Given the description of an element on the screen output the (x, y) to click on. 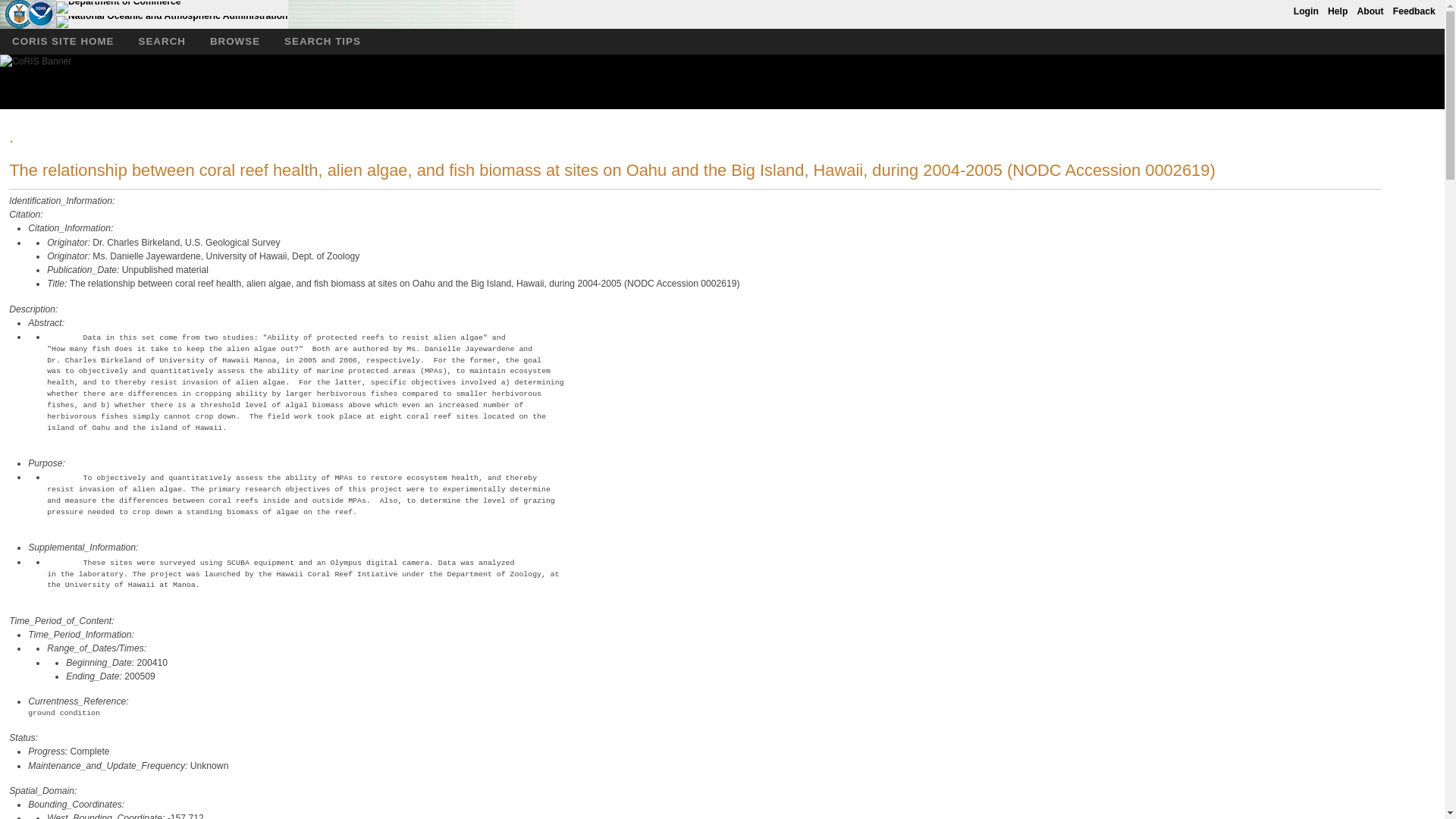
Feedback (1414, 9)
Login (1306, 9)
SEARCH (162, 41)
CORIS SITE HOME (63, 41)
Help (1337, 9)
SEARCH TIPS (322, 41)
About (1369, 9)
BROWSE (235, 41)
